Given the description of an element on the screen output the (x, y) to click on. 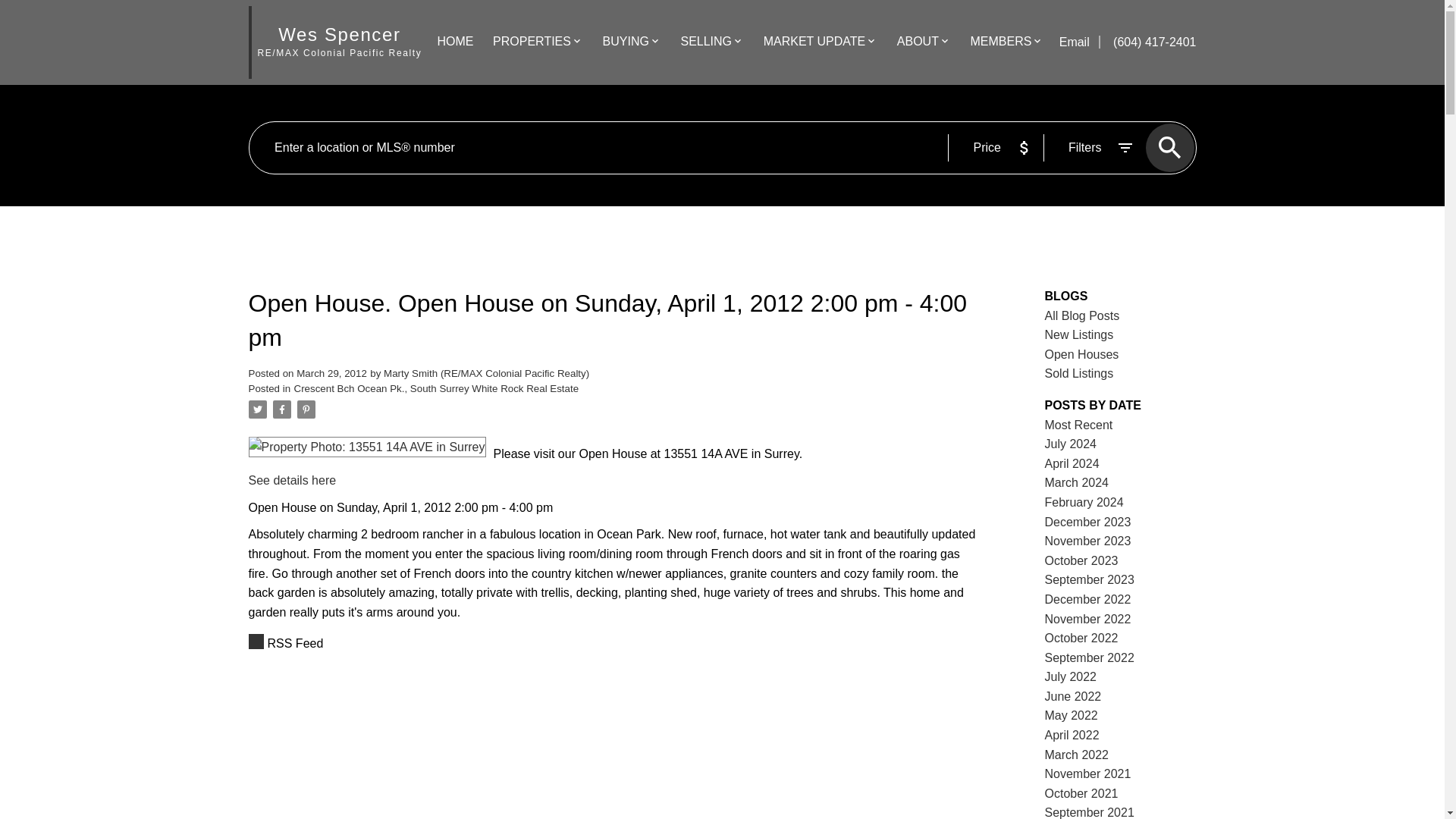
Open Houses (1082, 354)
ABOUT (917, 42)
Sold Listings (1079, 373)
Most Recent (1079, 424)
July 2024 (1071, 443)
All Blog Posts (1082, 315)
HOME (454, 42)
RSS (616, 643)
New Listings (1079, 334)
See details here (292, 480)
SELLING (705, 42)
Crescent Bch Ocean Pk., South Surrey White Rock Real Estate (436, 388)
PROPERTIES (531, 42)
BUYING (625, 42)
Email (1076, 42)
